Given the description of an element on the screen output the (x, y) to click on. 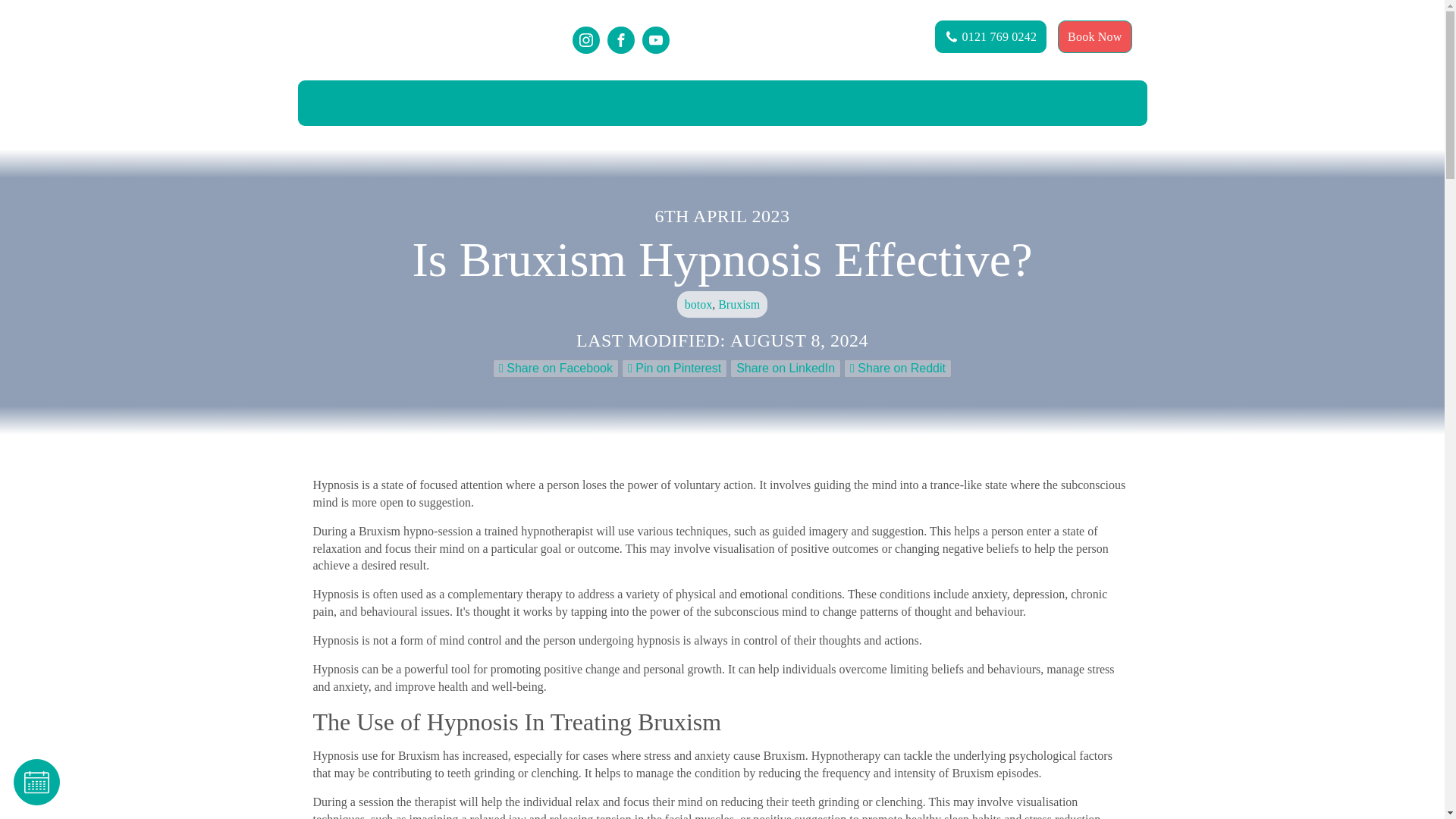
Book Now (1094, 36)
Pin it (673, 367)
0121 769 0242 (990, 36)
Share on LinkedIn (785, 367)
Share on Facebook (555, 367)
Submit to Reddit (897, 367)
